Given the description of an element on the screen output the (x, y) to click on. 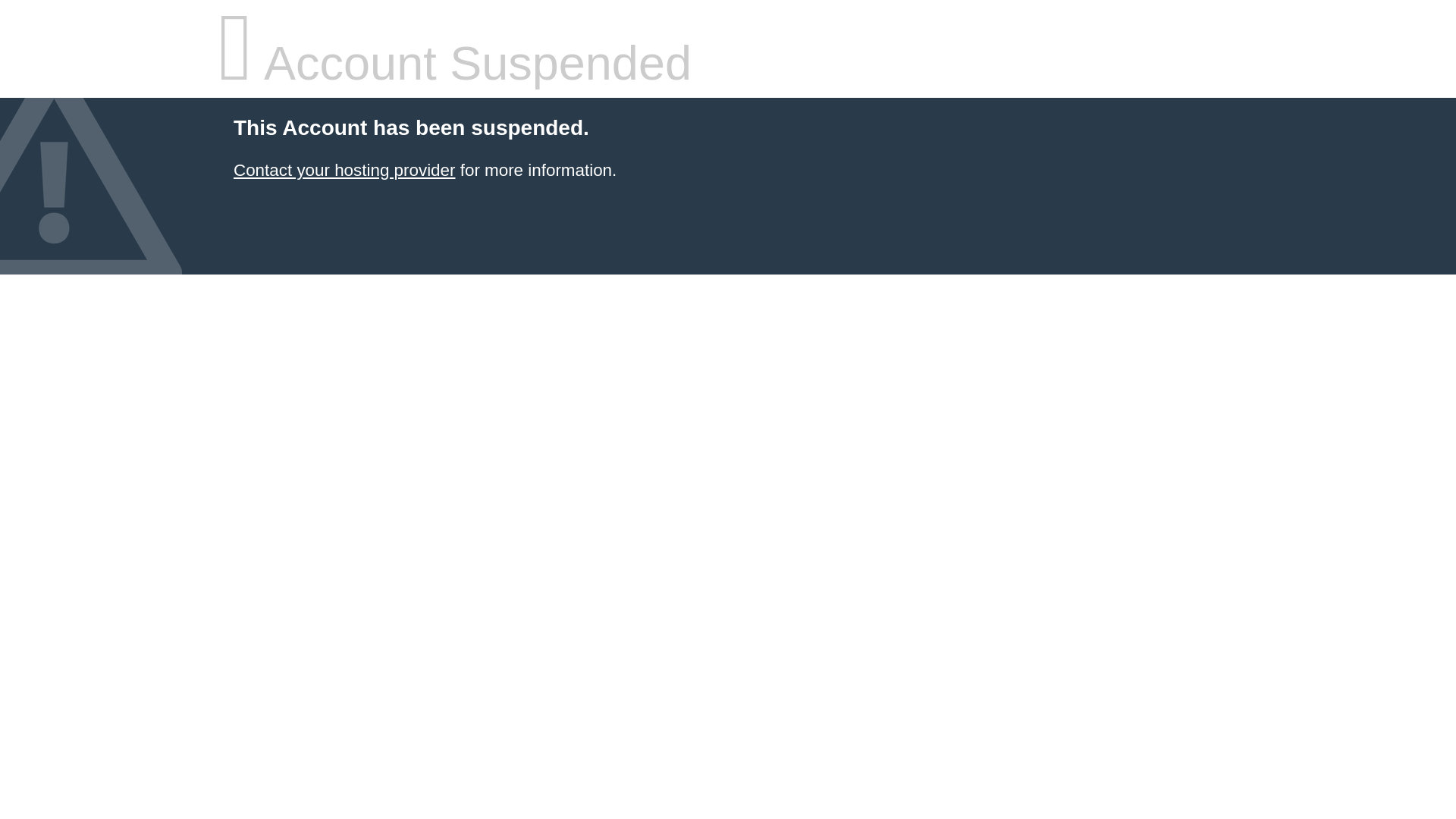
Contact your hosting provider (343, 169)
